Given the description of an element on the screen output the (x, y) to click on. 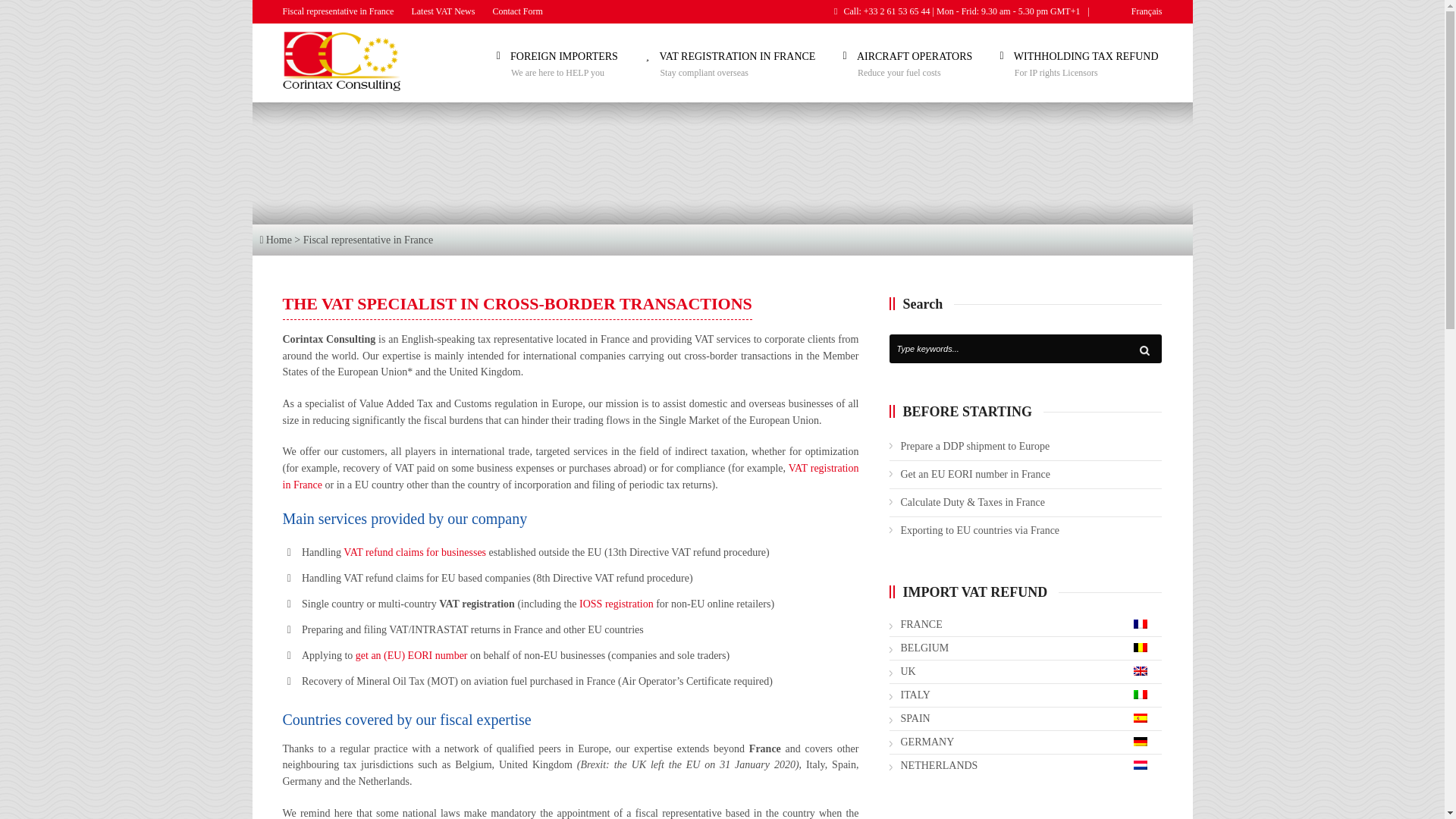
Latest VAT News (442, 10)
Fiscal representative in France (341, 10)
Type keywords... (1024, 348)
Contact Form (517, 10)
